Given the description of an element on the screen output the (x, y) to click on. 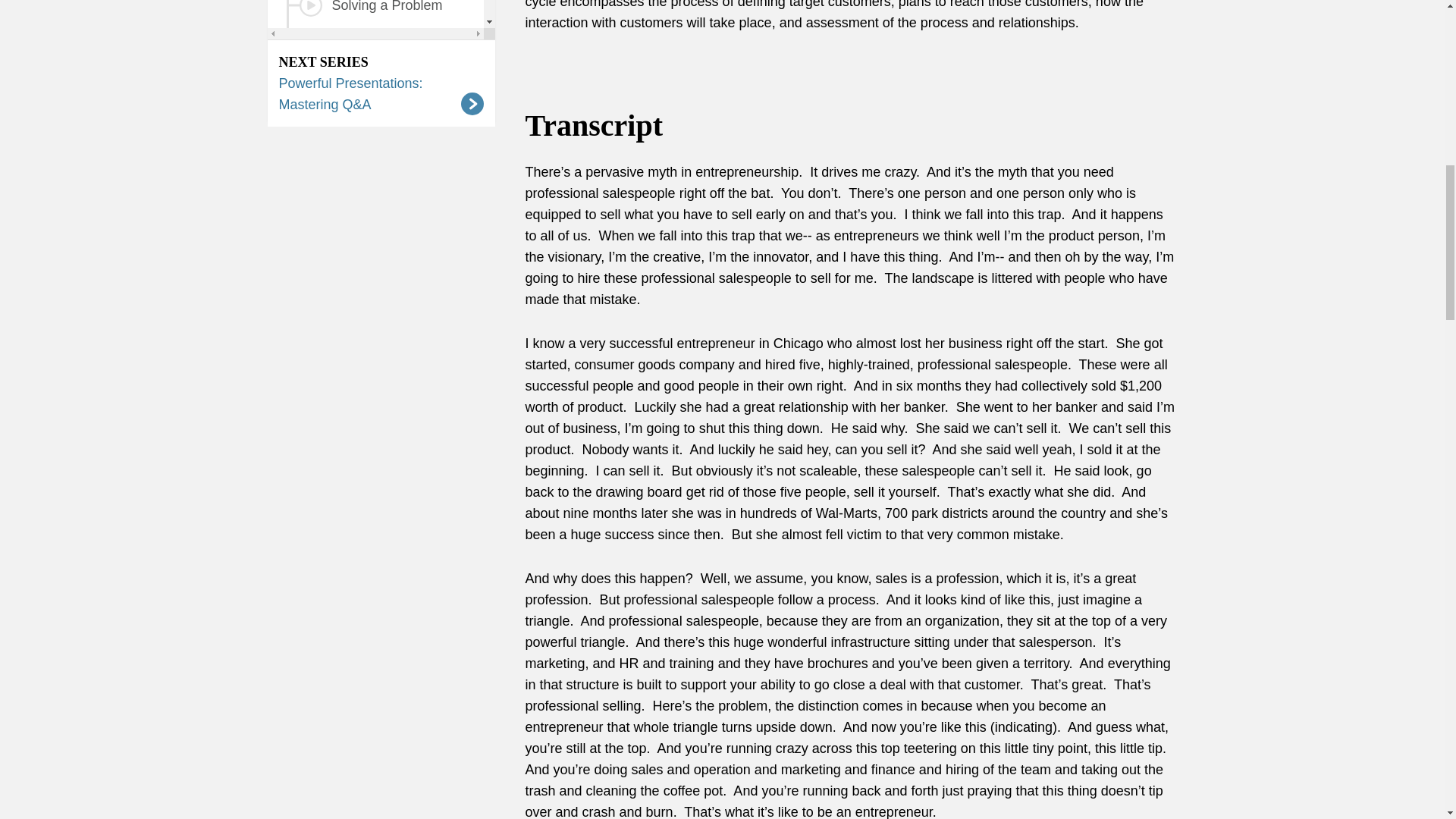
Showing Them the Ropes (374, 59)
Solving a Problem (374, 13)
